Given the description of an element on the screen output the (x, y) to click on. 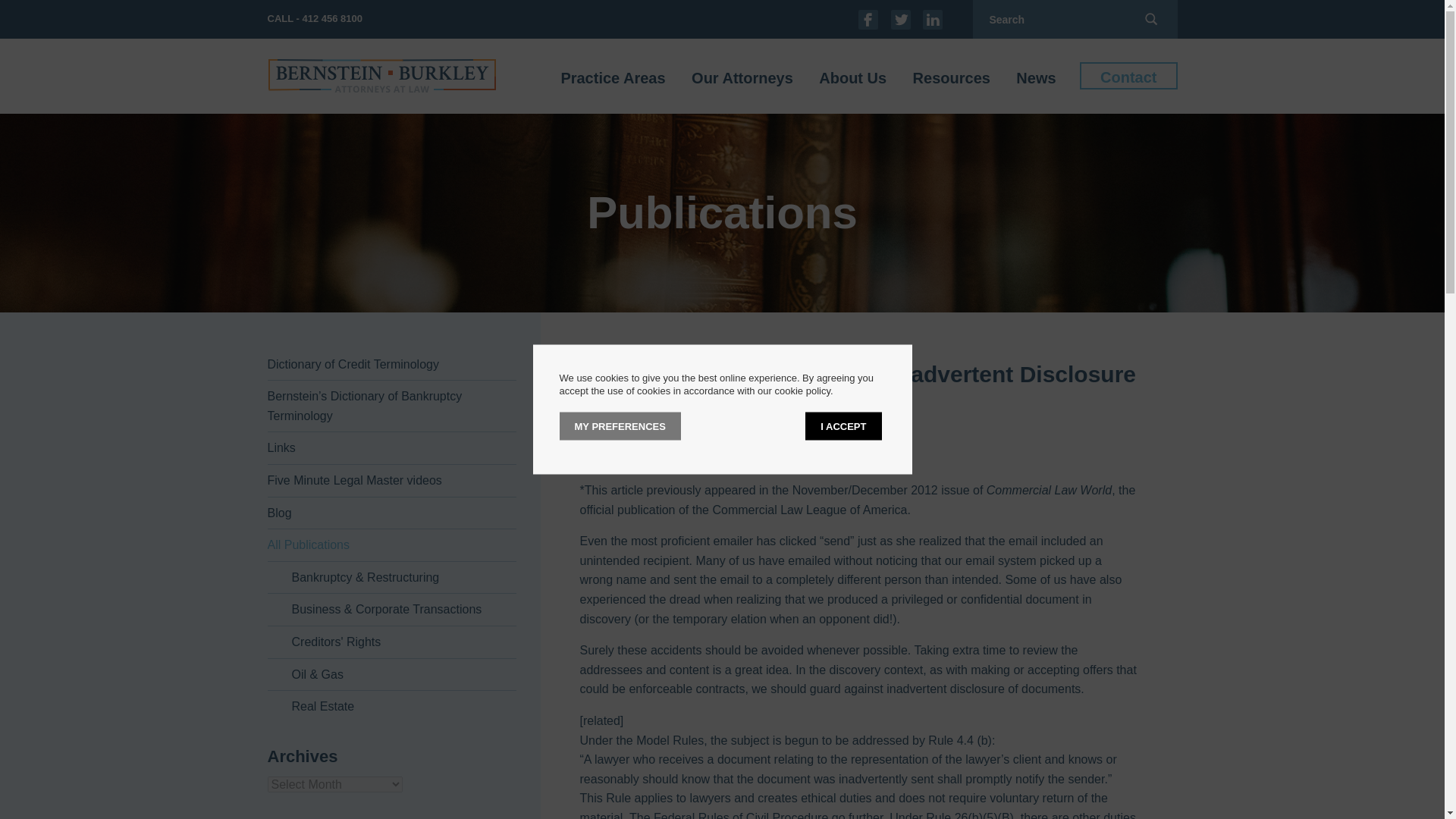
Practice Areas (611, 75)
Bernstein Burkley (381, 76)
LinkedIn (932, 18)
SEARCH (1150, 19)
Facebook (868, 18)
Twitter (901, 18)
